Given the description of an element on the screen output the (x, y) to click on. 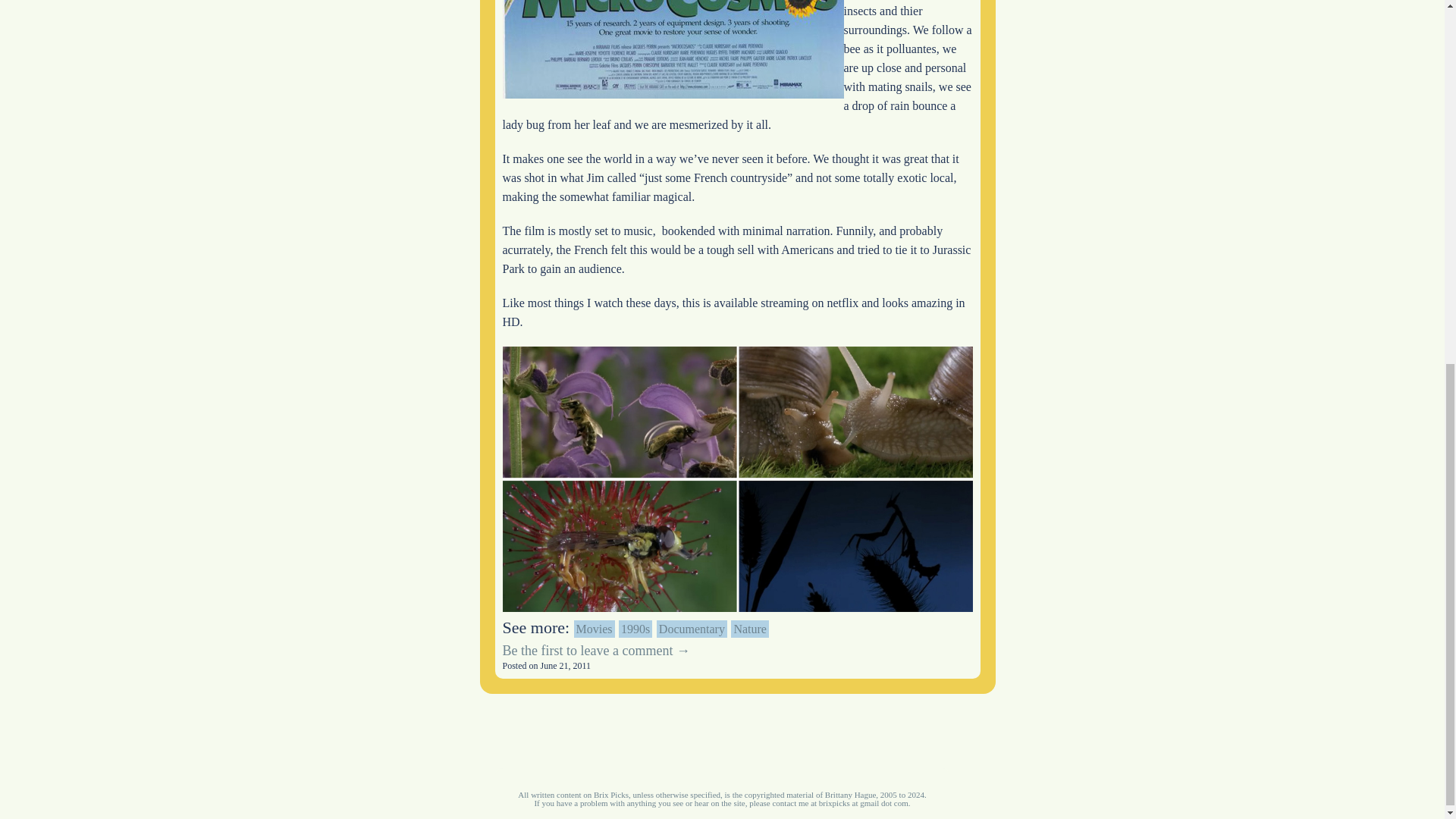
Microposter (672, 49)
Movies (593, 628)
Nature (749, 628)
1990s (635, 628)
Documentary (691, 628)
Micro1 (737, 478)
